Given the description of an element on the screen output the (x, y) to click on. 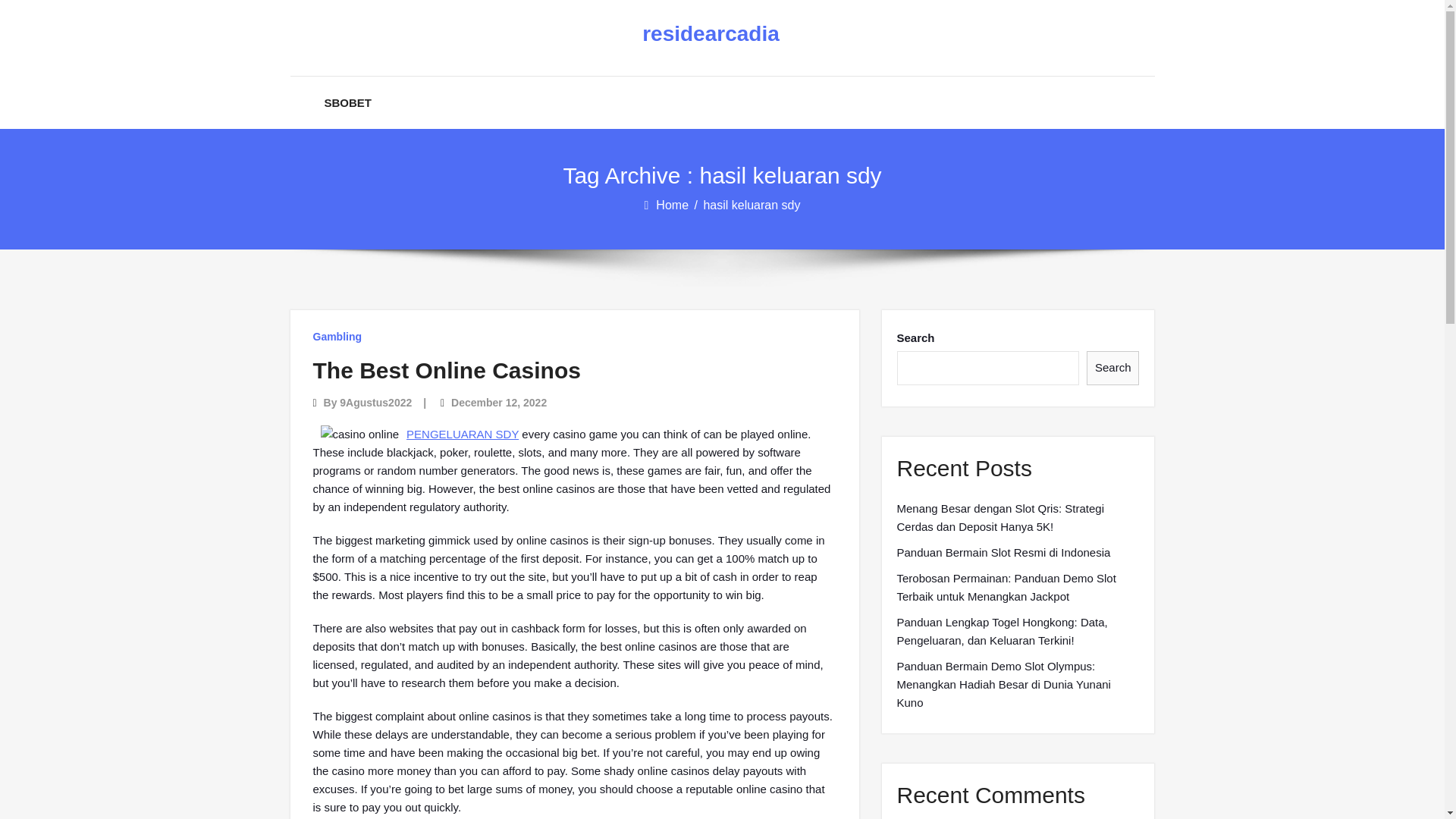
Panduan Bermain Slot Resmi di Indonesia (1002, 552)
SBOBET (348, 102)
December 12, 2022 (499, 402)
Gambling (337, 336)
Home (673, 205)
Search (1113, 367)
The Best Online Casinos (446, 370)
PENGELUARAN SDY (462, 433)
9Agustus2022 (375, 402)
residearcadia (710, 34)
